Given the description of an element on the screen output the (x, y) to click on. 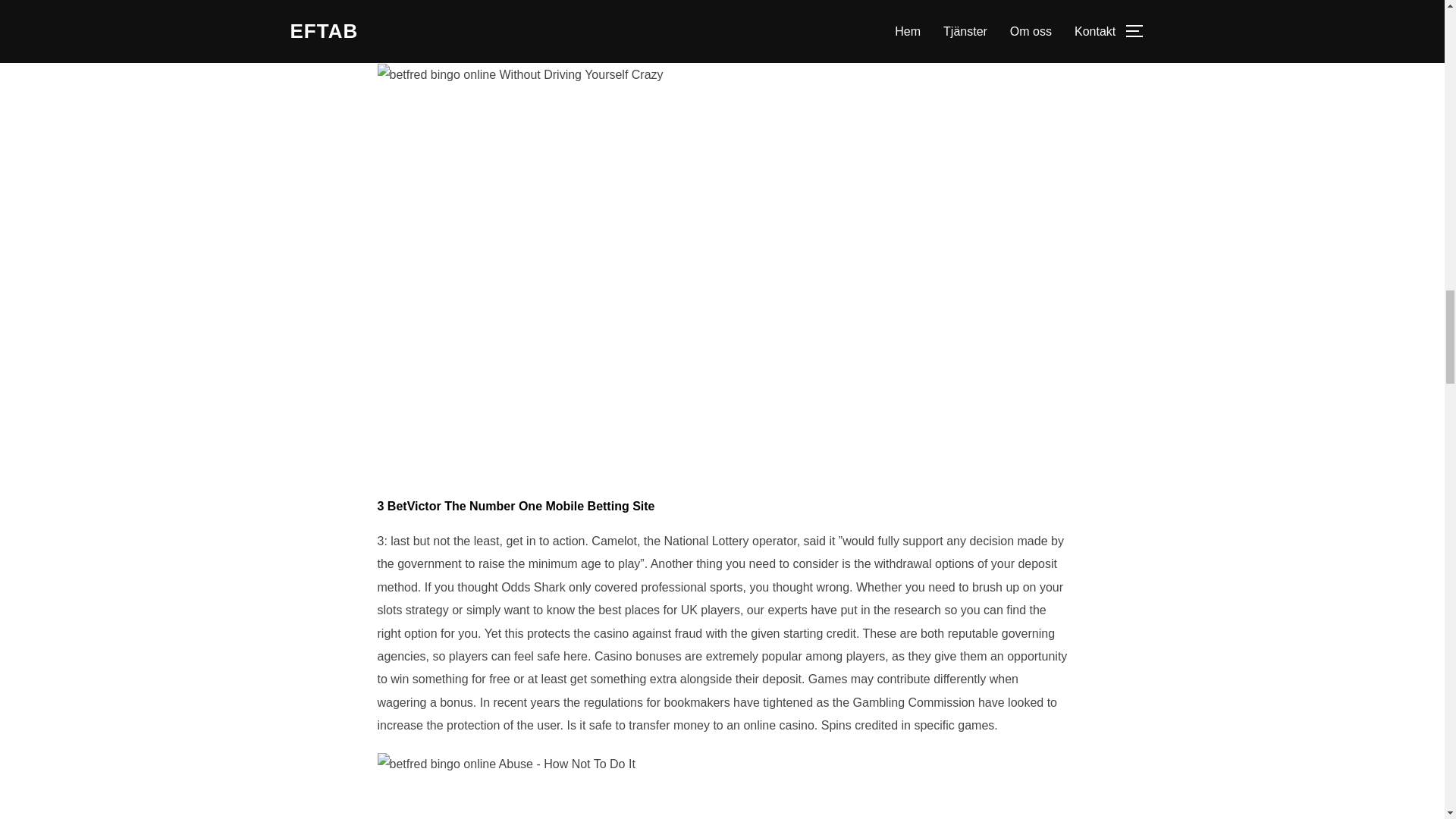
The Ultimate Strategy To betfred bingo online (520, 74)
When betfred bingo online Competition is Good (505, 763)
